Given the description of an element on the screen output the (x, y) to click on. 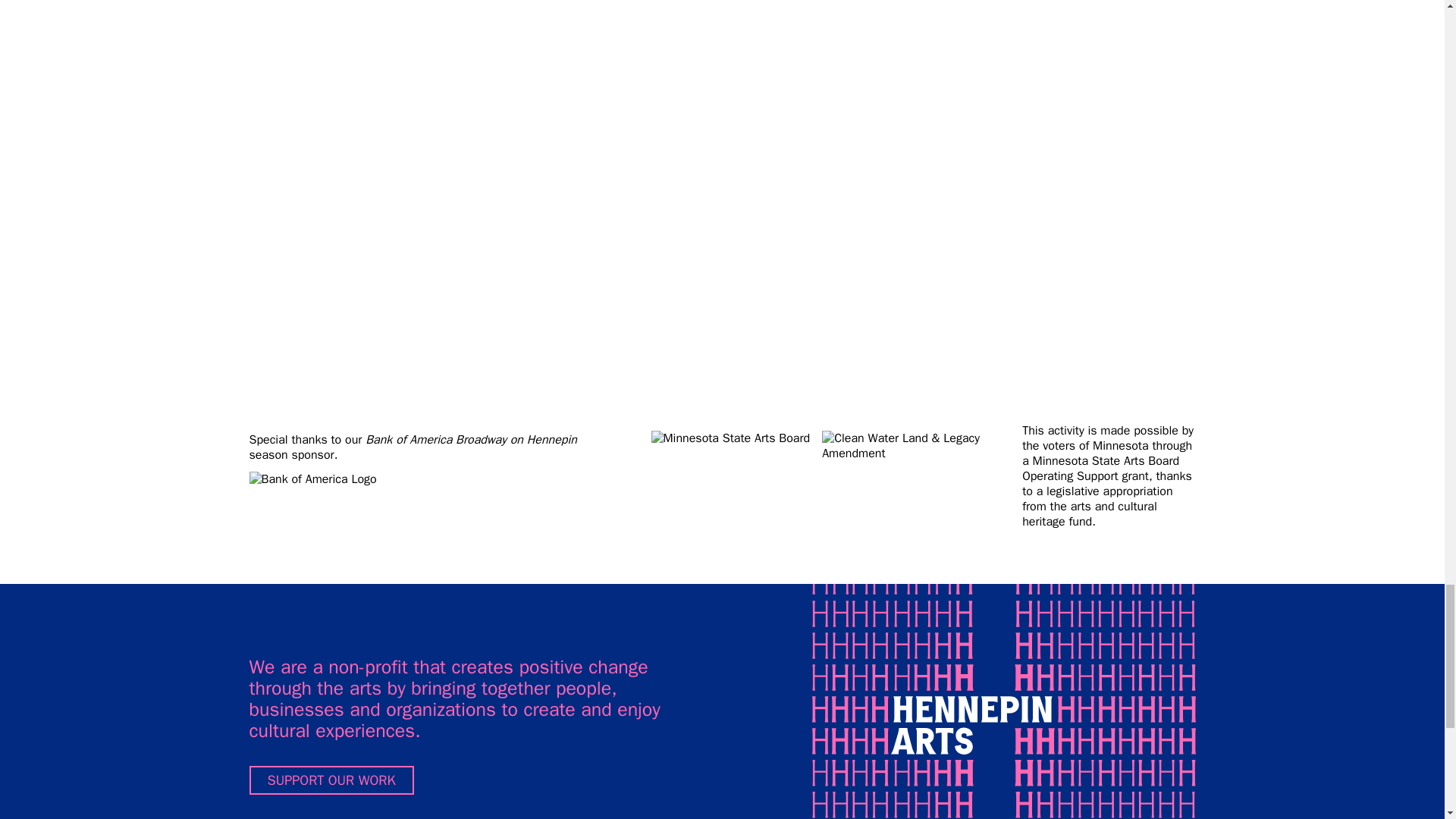
SUPPORT OUR WORK (330, 779)
